Given the description of an element on the screen output the (x, y) to click on. 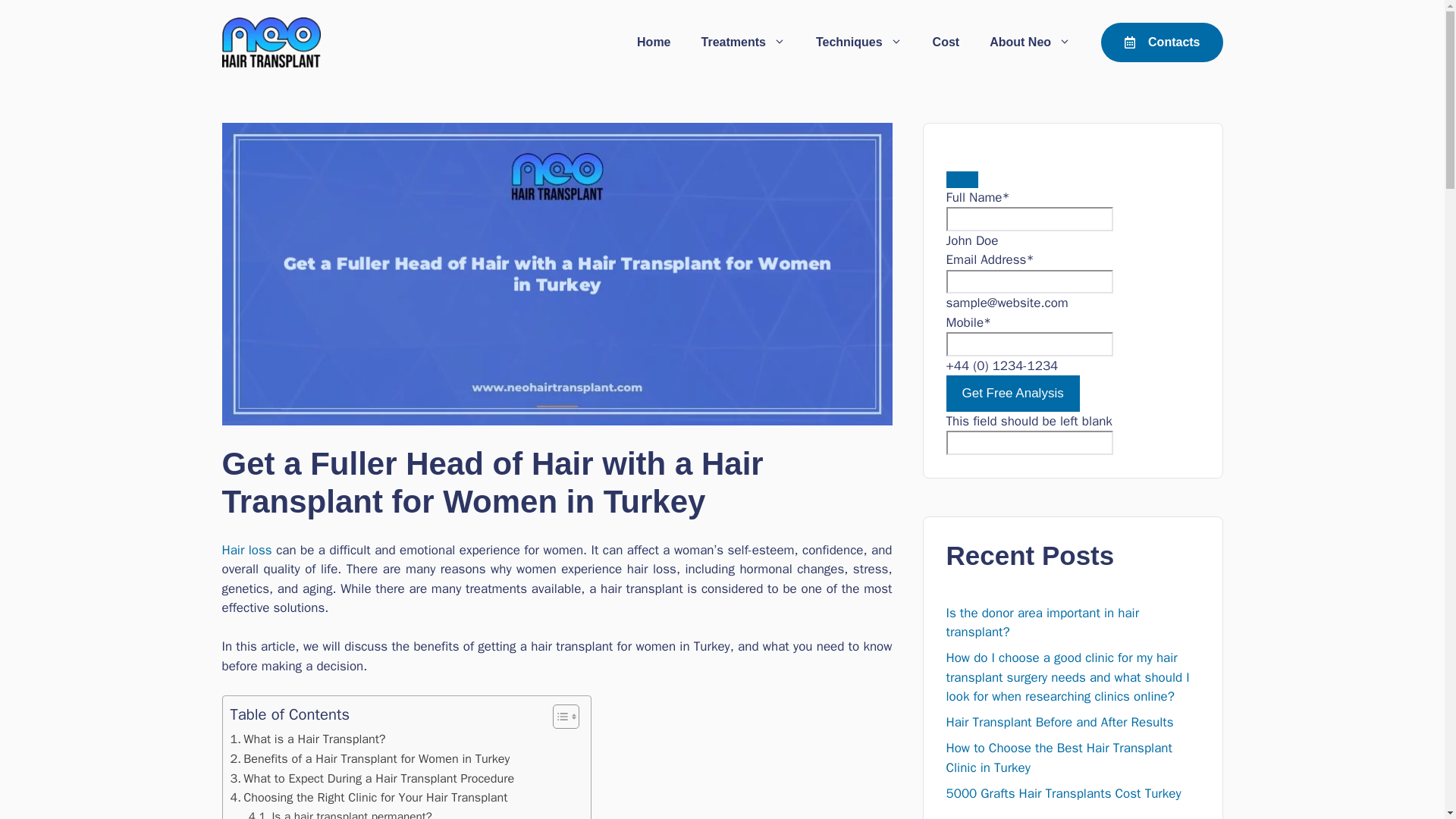
Hair loss (245, 549)
Is a hair transplant permanent? (340, 813)
Contacts (1161, 42)
What to Expect During a Hair Transplant Procedure (372, 778)
Is a hair transplant permanent? (340, 813)
Treatments (742, 42)
What to Expect During a Hair Transplant Procedure (372, 778)
Home (653, 42)
Choosing the Right Clinic for Your Hair Transplant (369, 797)
Choosing the Right Clinic for Your Hair Transplant (369, 797)
